Given the description of an element on the screen output the (x, y) to click on. 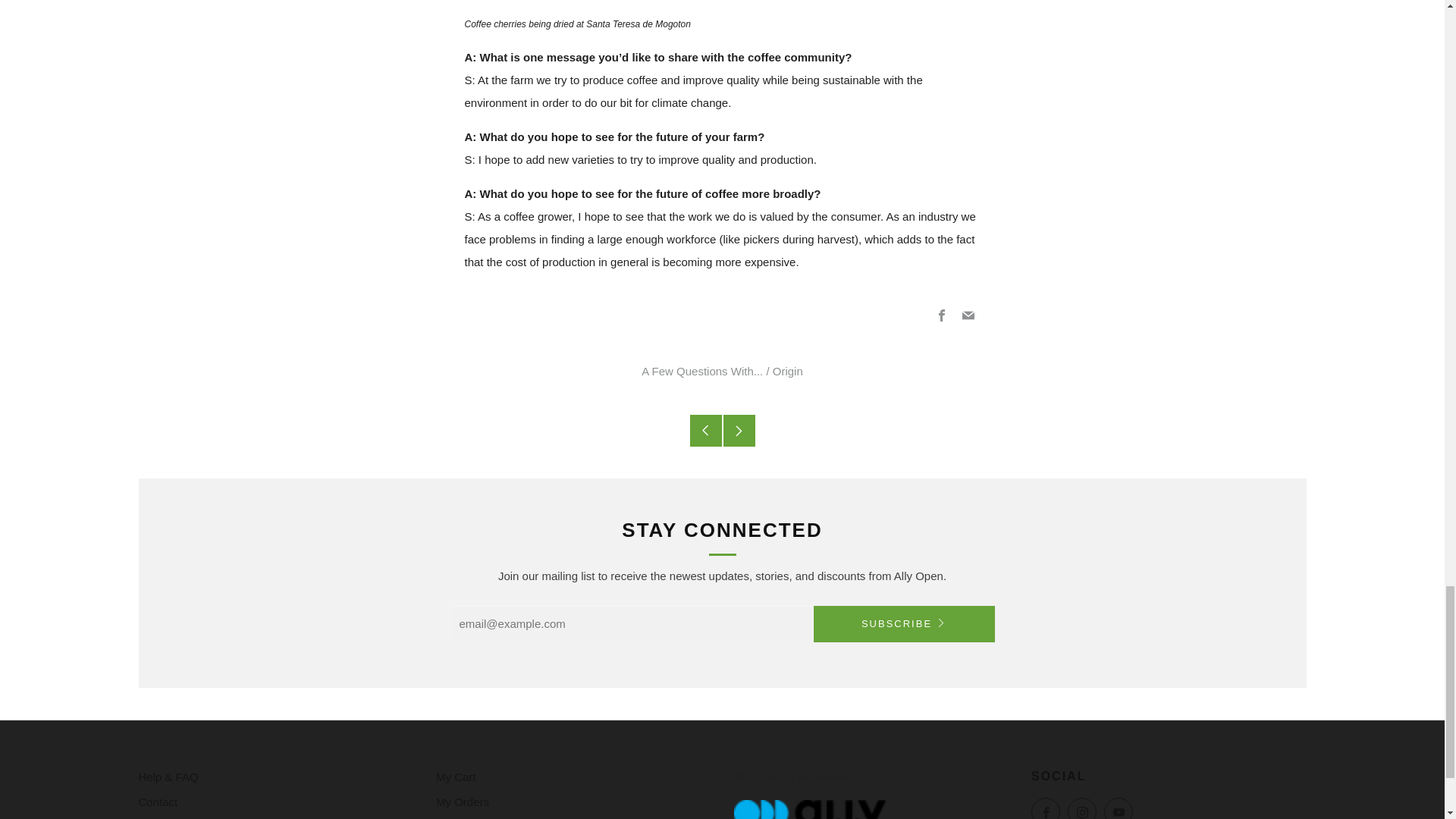
Newer Post (739, 430)
Facebook (941, 315)
A Few Questions With... (702, 370)
Contact (157, 801)
Show articles tagged Origin (788, 370)
Email (967, 315)
Origin (788, 370)
Older Post (706, 430)
SUBSCRIBE (903, 624)
Show articles tagged A Few Questions With... (702, 370)
